Given the description of an element on the screen output the (x, y) to click on. 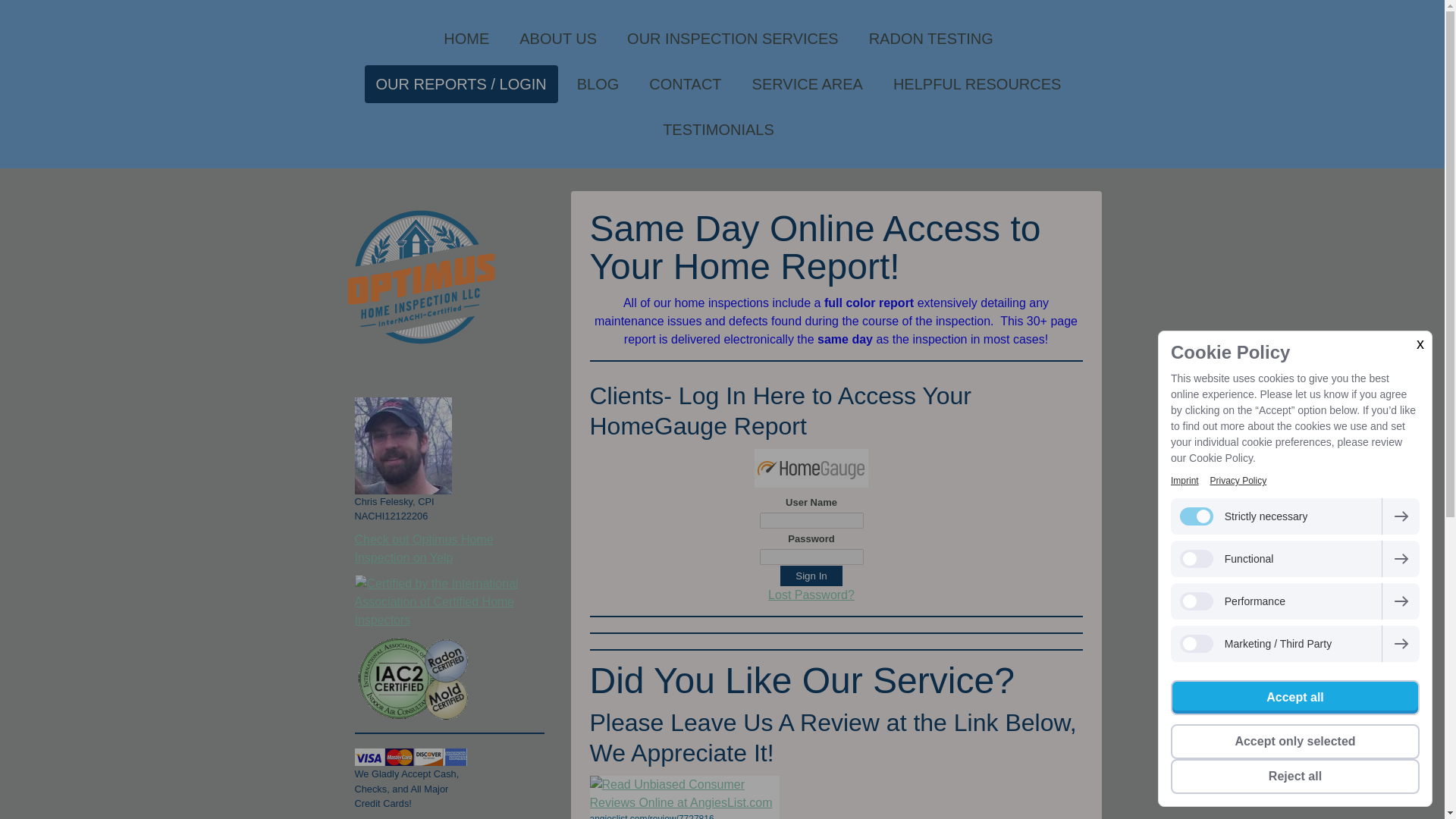
Check out Optimus Home Inspection on Yelp (424, 548)
HELPFUL RESOURCES (977, 84)
RADON TESTING (930, 38)
Sign In (811, 575)
TESTIMONIALS (718, 129)
HOME (466, 38)
OUR INSPECTION SERVICES (732, 38)
Sign In (811, 575)
ABOUT US (558, 38)
CONTACT (684, 84)
Lost Password? (811, 594)
SERVICE AREA (808, 84)
BLOG (598, 84)
